Given the description of an element on the screen output the (x, y) to click on. 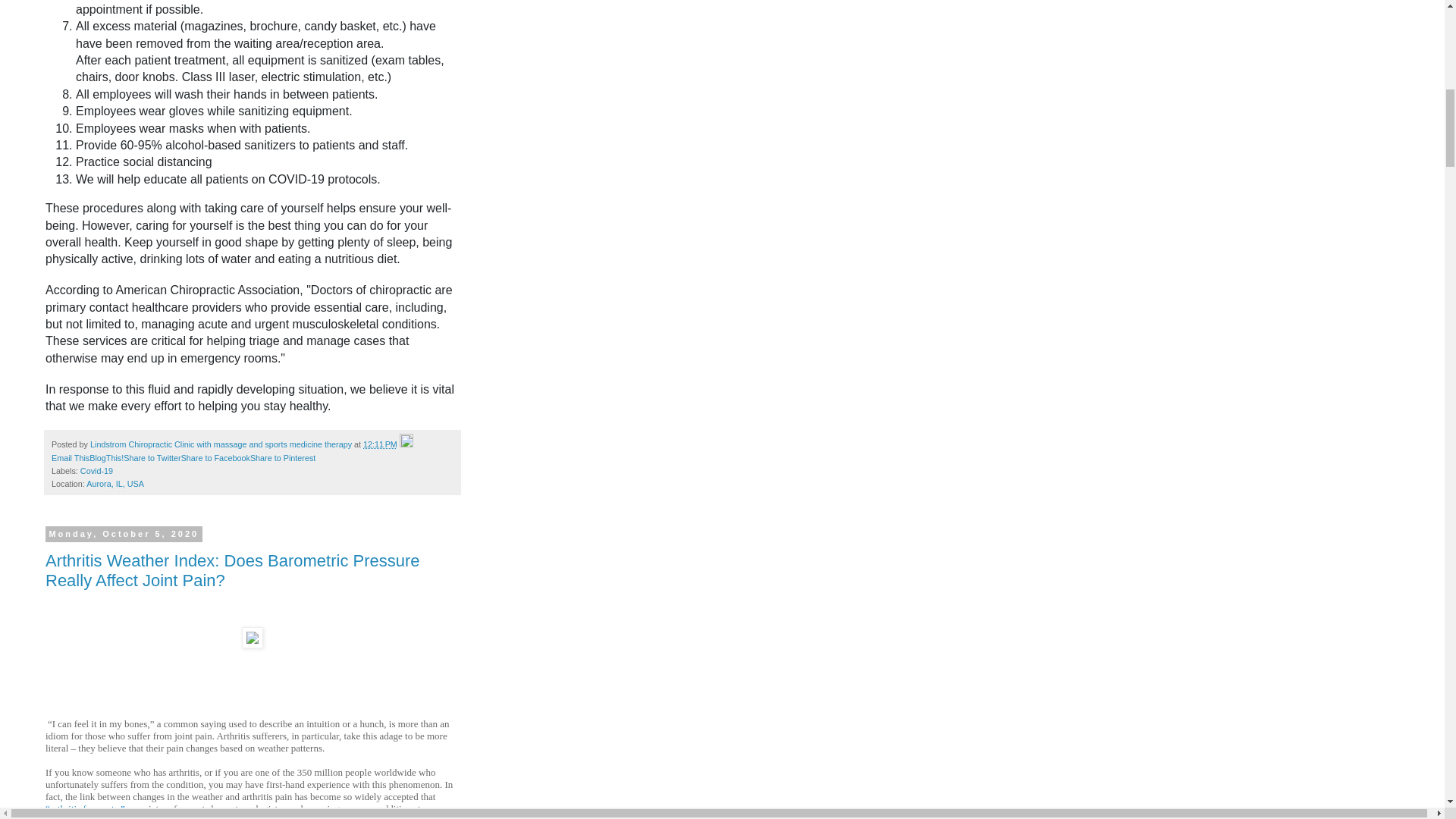
Share to Facebook (215, 457)
BlogThis! (105, 457)
Email This (69, 457)
permanent link (379, 443)
Email This (69, 457)
Share to Twitter (151, 457)
Share to Twitter (151, 457)
BlogThis! (105, 457)
author profile (221, 443)
Aurora, IL, USA (114, 483)
Edit Post (405, 443)
arthritis forecast (82, 808)
Covid-19 (96, 470)
Share to Facebook (215, 457)
